Given the description of an element on the screen output the (x, y) to click on. 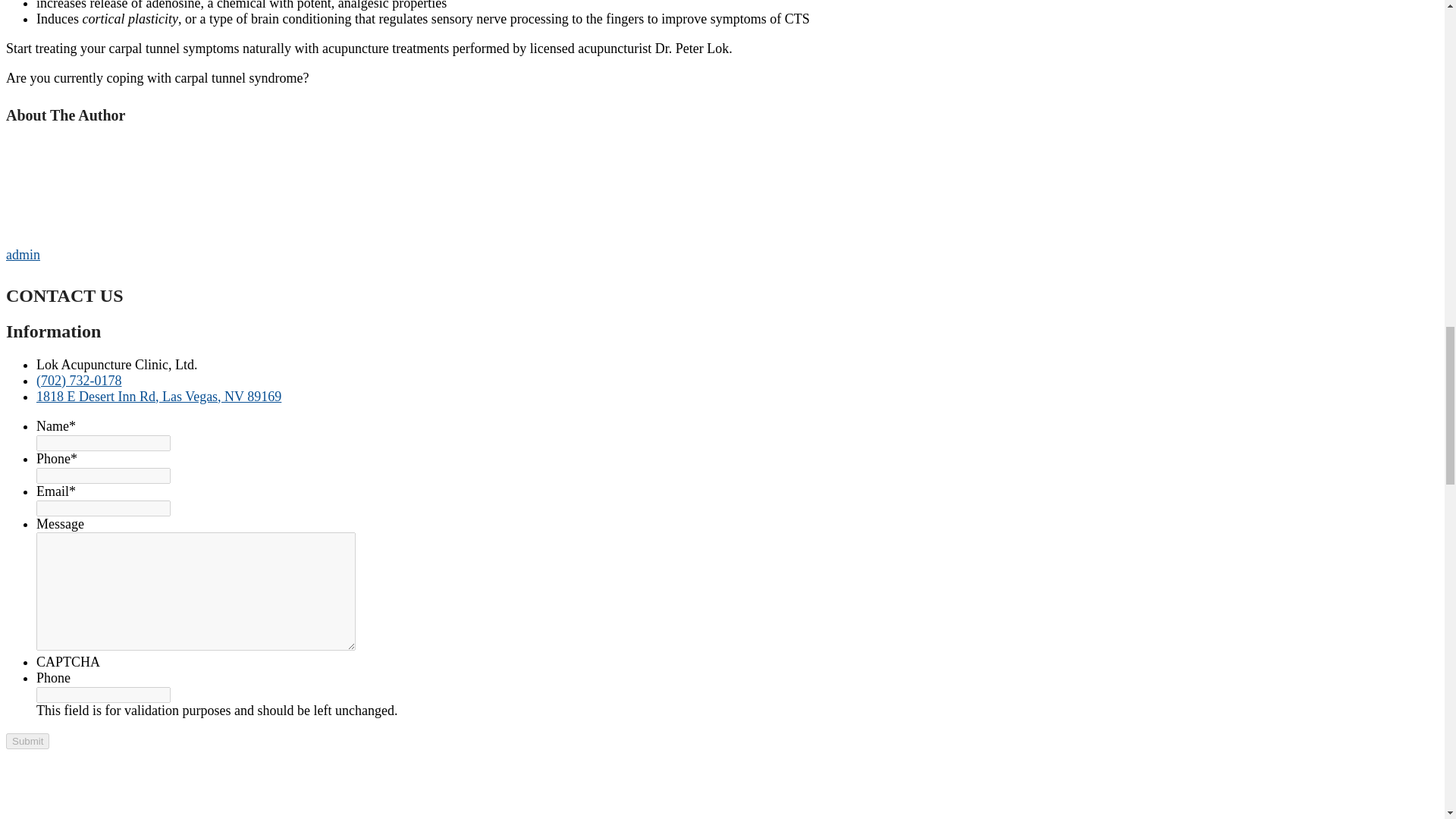
Submit (27, 740)
